Given the description of an element on the screen output the (x, y) to click on. 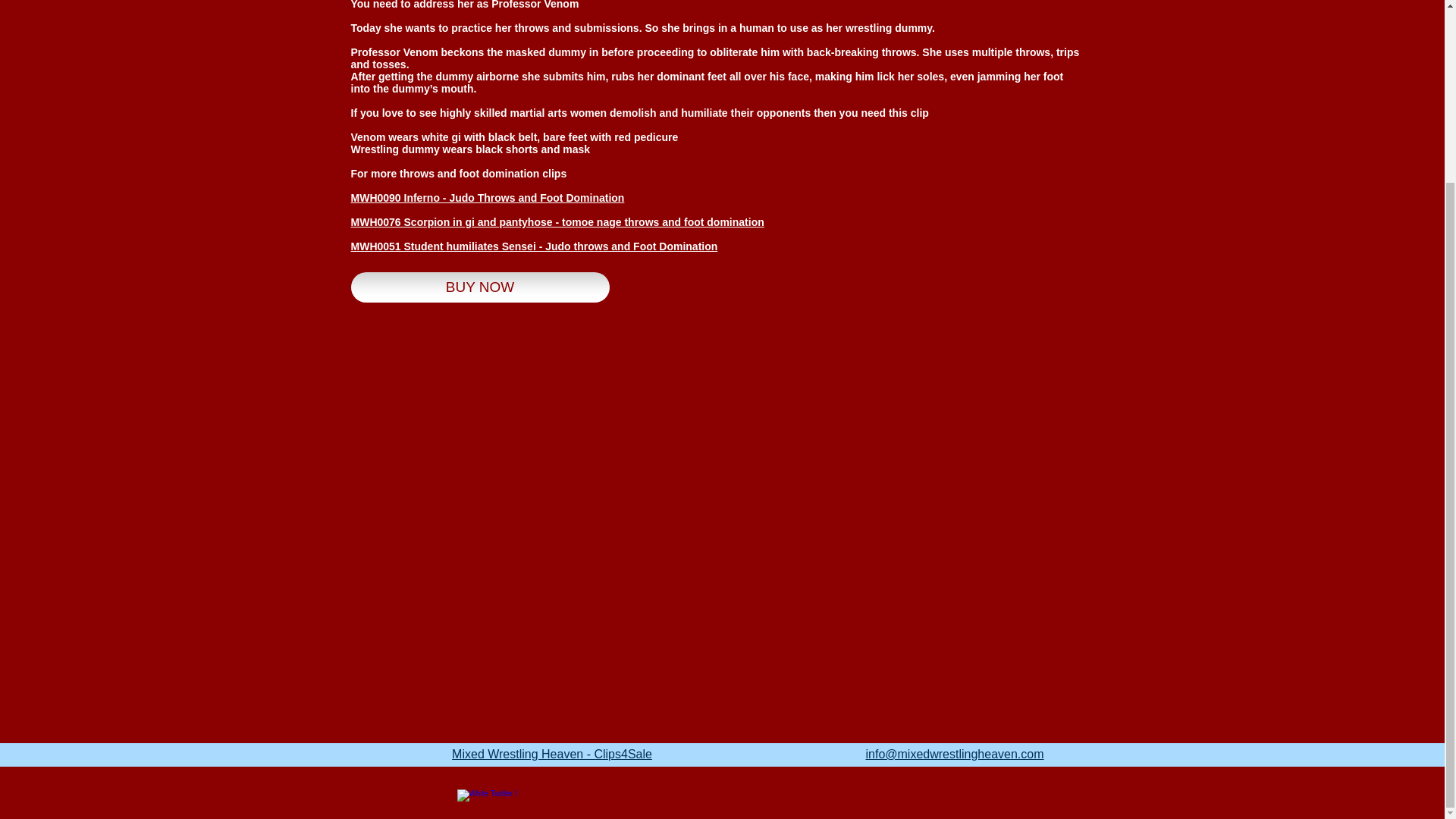
MWH0090 Inferno - Judo Throws and Foot Domination (487, 197)
BUY NOW (479, 286)
Mixed Wrestling Heaven - Clips4Sale (551, 753)
